Given the description of an element on the screen output the (x, y) to click on. 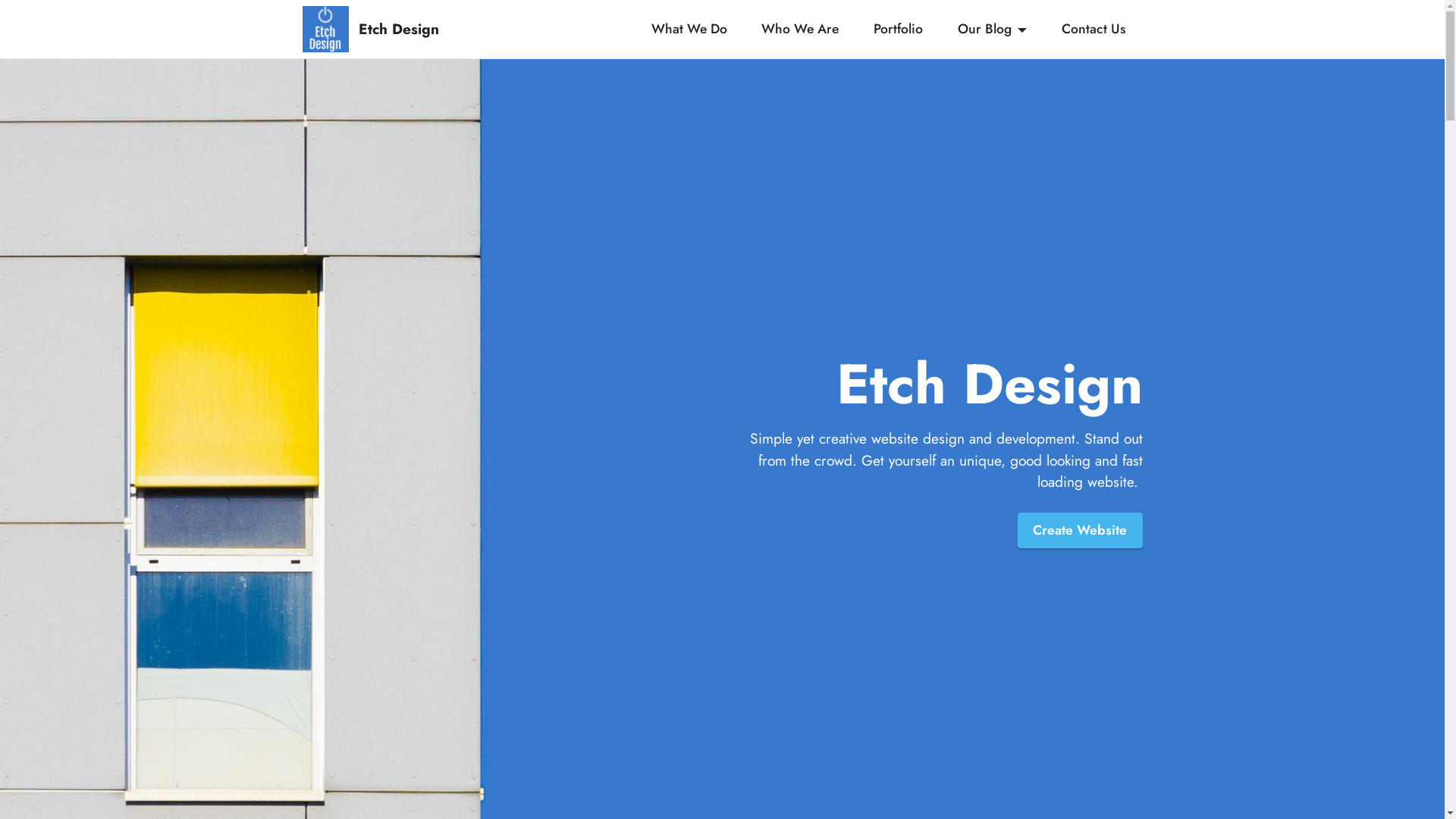
Who We Are Element type: text (800, 28)
Etch Design Element type: text (422, 28)
Contact Us Element type: text (1093, 28)
Create Website Element type: text (1079, 530)
Our Blog Element type: text (992, 28)
Portfolio Element type: text (898, 28)
What We Do Element type: text (689, 28)
